Given the description of an element on the screen output the (x, y) to click on. 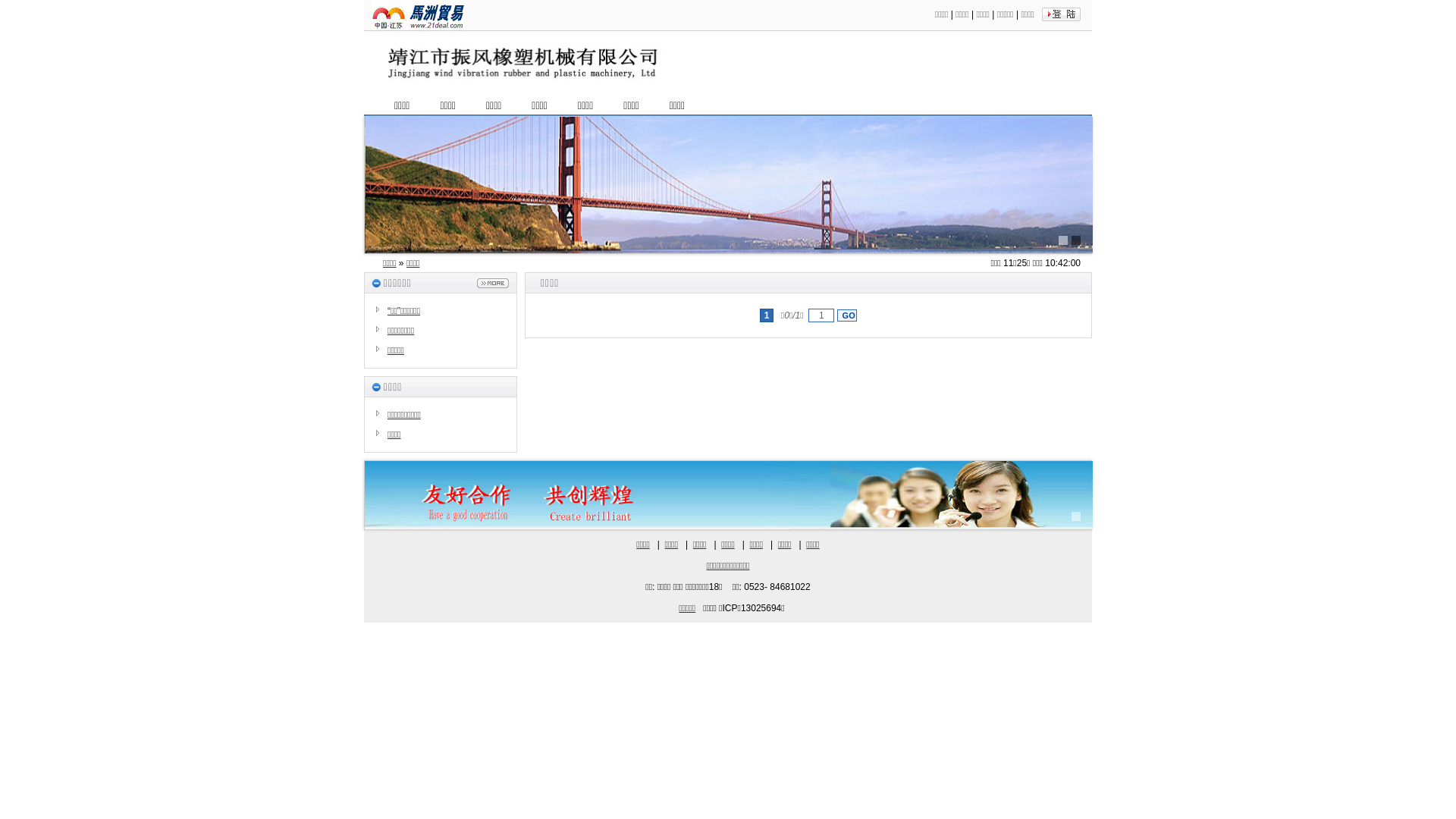
GO Element type: text (846, 315)
